Given the description of an element on the screen output the (x, y) to click on. 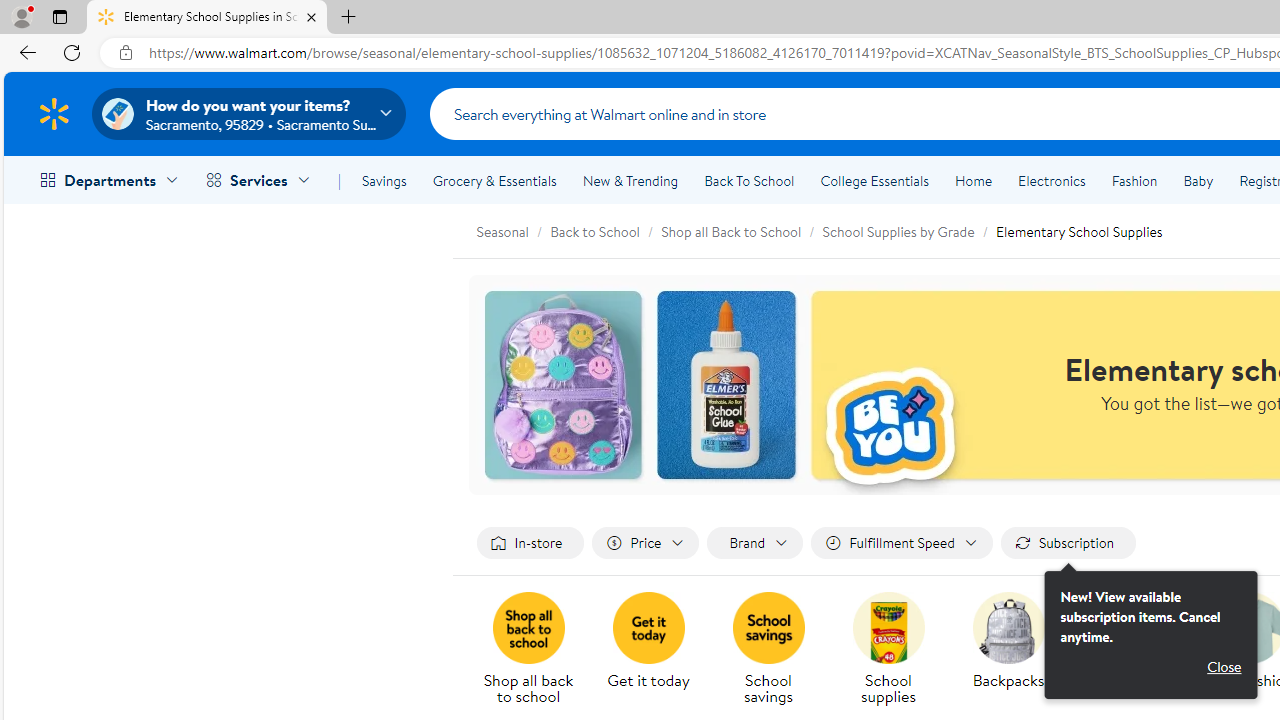
School supplies (896, 650)
School Supplies by Grade (908, 230)
Elementary School Supplies (1078, 230)
Back to School (605, 230)
Back To School (749, 180)
Electronics (1051, 180)
Savings (384, 180)
Baby (1197, 180)
Walmart Homepage (53, 113)
Shop all back to school (536, 650)
School savings (776, 650)
Backpacks (1016, 650)
